Given the description of an element on the screen output the (x, y) to click on. 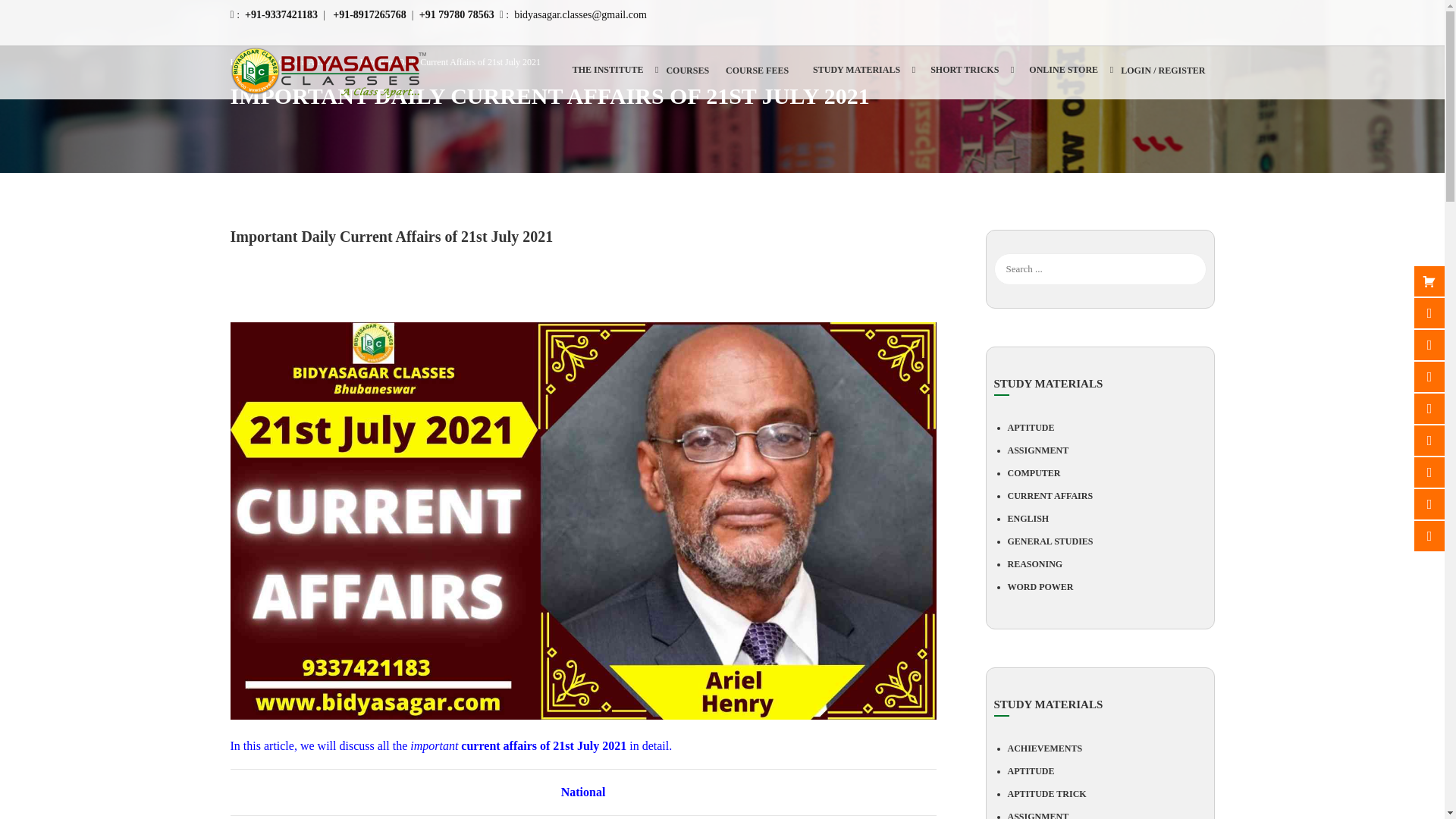
BIDYASAGAR CLASSES - A Class Apart (329, 72)
COURSES (687, 76)
Current Affairs (312, 62)
Important Daily Current Affairs of 21st July 2021 (449, 61)
Home (248, 62)
COURSE FEES (757, 76)
